Given the description of an element on the screen output the (x, y) to click on. 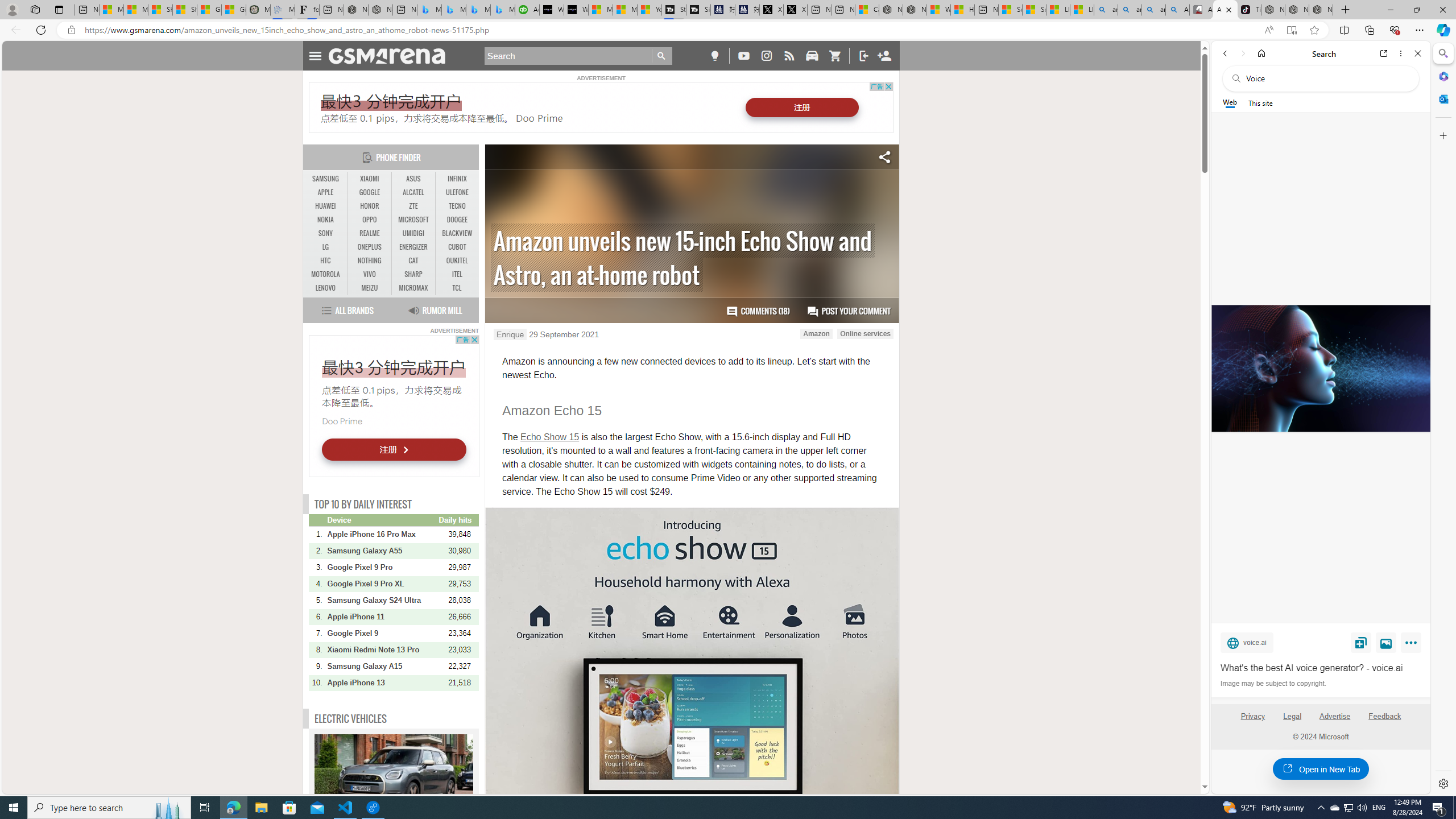
APPLE (325, 192)
Web scope (1230, 102)
OUKITEL (457, 260)
VIVO (369, 273)
TCL (457, 287)
TikTok (1248, 9)
Nordace - #1 Japanese Best-Seller - Siena Smart Backpack (380, 9)
Microsoft Bing Travel - Shangri-La Hotel Bangkok (502, 9)
Forward (1242, 53)
